Given the description of an element on the screen output the (x, y) to click on. 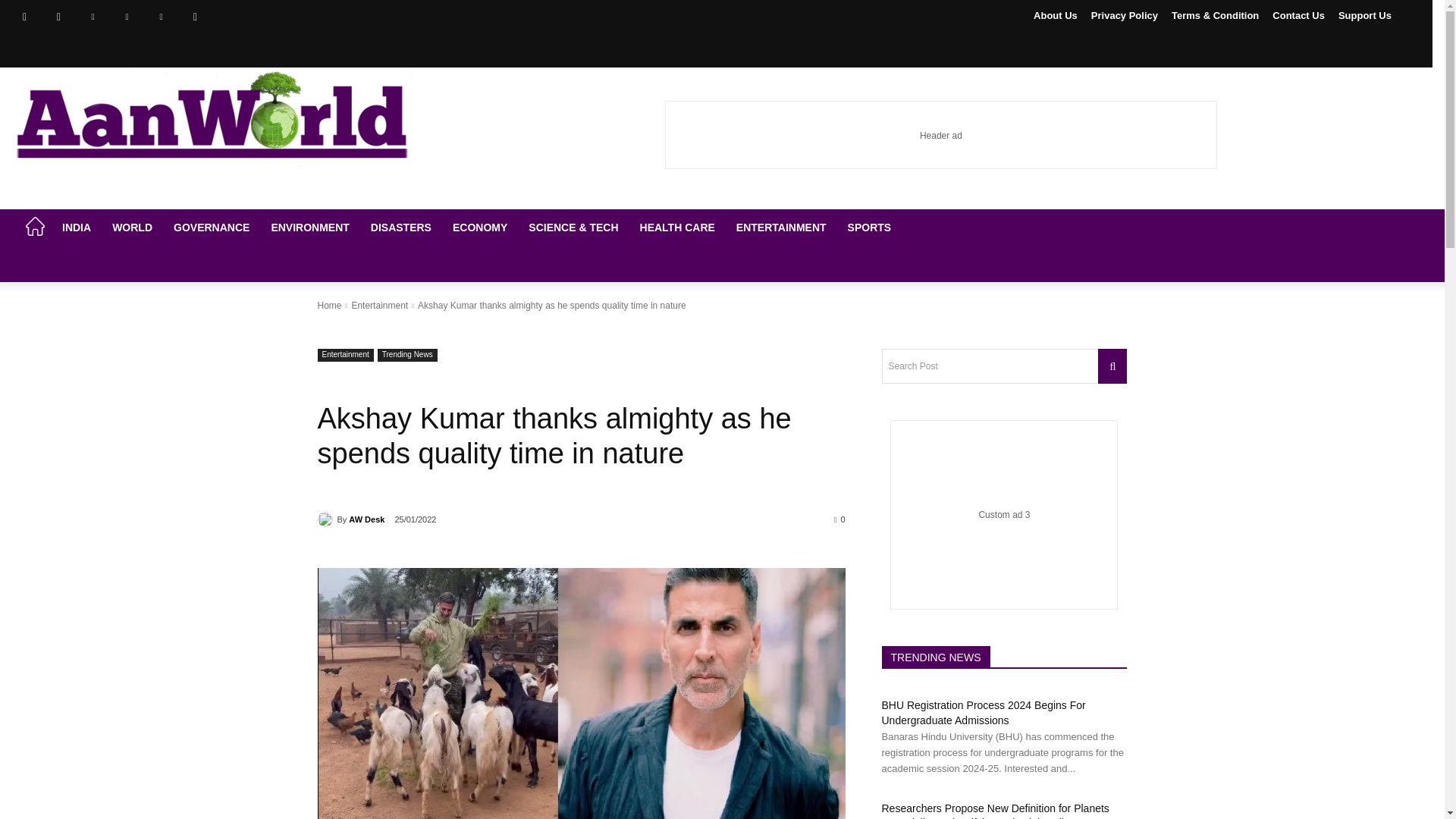
Privacy Policy (1124, 15)
Linkedin (93, 17)
Twitter (161, 17)
Instagram (58, 17)
Support Us (1364, 15)
Youtube (195, 17)
About Us (1055, 15)
Pinterest (126, 17)
Contact Us (1298, 15)
Facebook (24, 17)
